Given the description of an element on the screen output the (x, y) to click on. 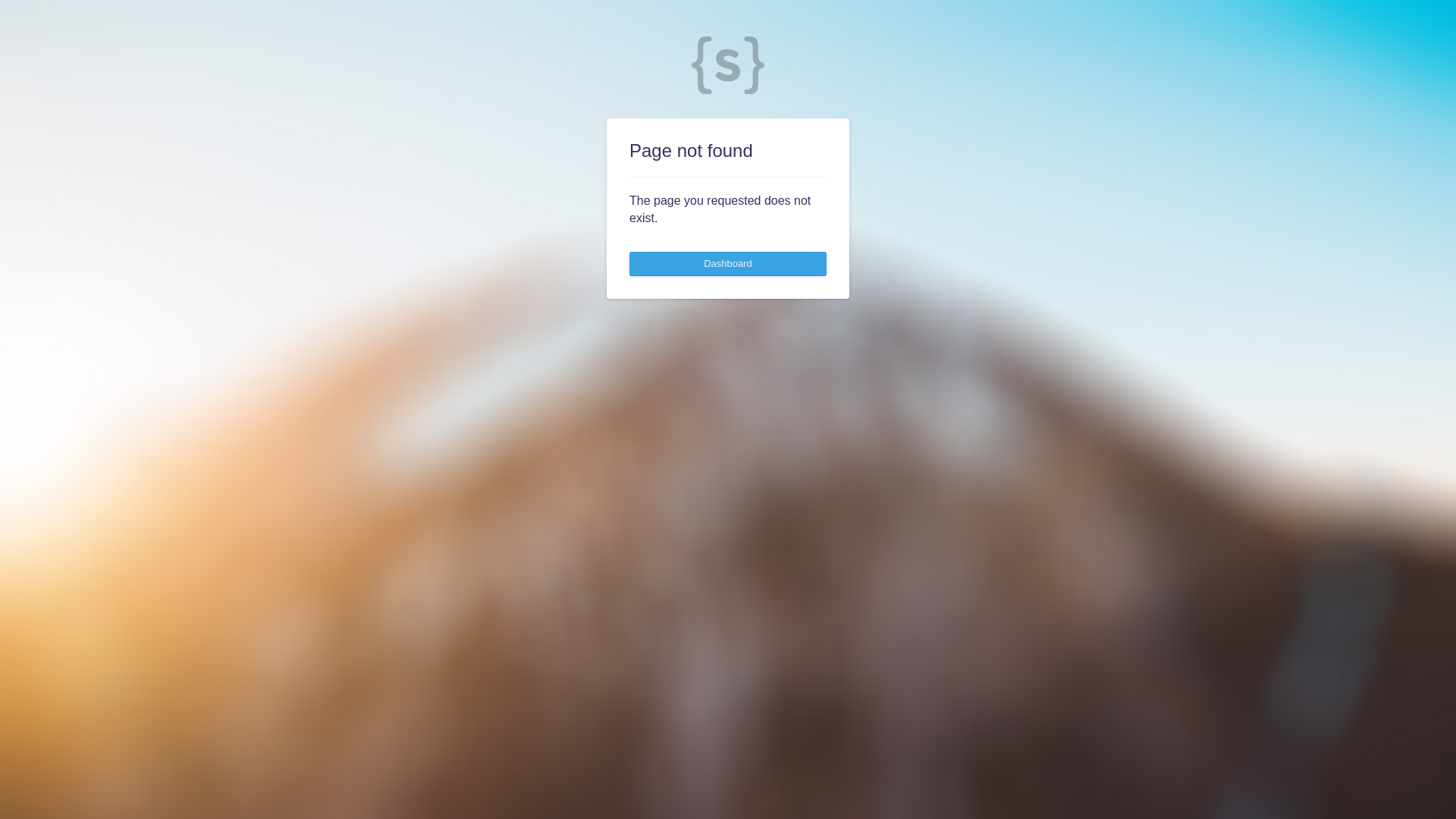
Dashboard Element type: text (727, 263)
